Given the description of an element on the screen output the (x, y) to click on. 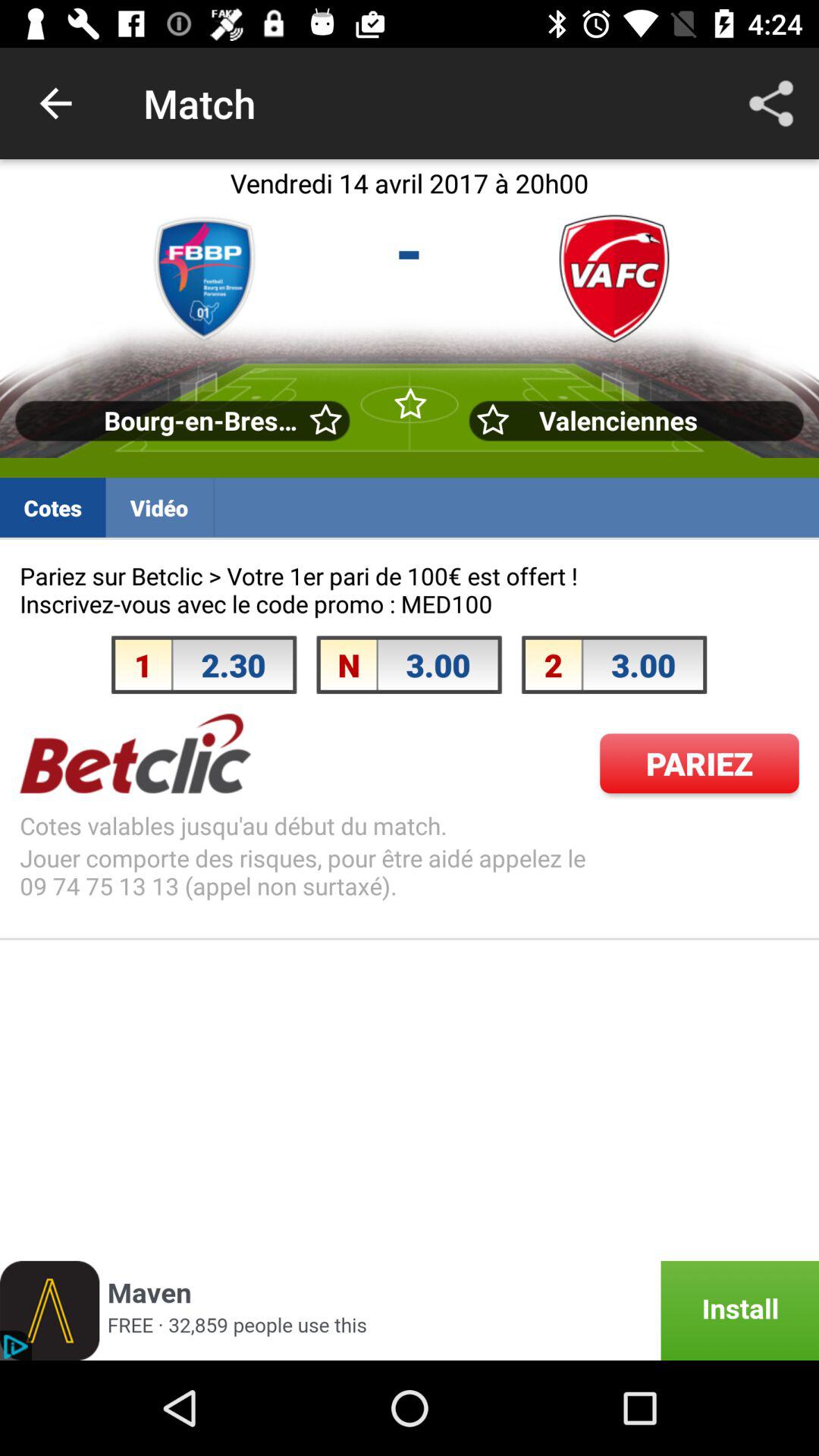
select the second star with green background (409, 405)
